Given the description of an element on the screen output the (x, y) to click on. 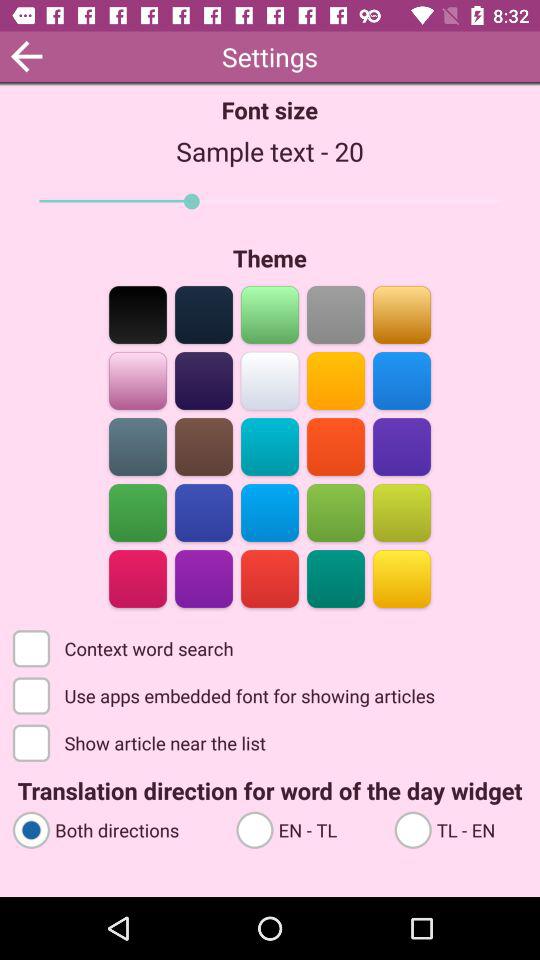
dark blue color (203, 511)
